Given the description of an element on the screen output the (x, y) to click on. 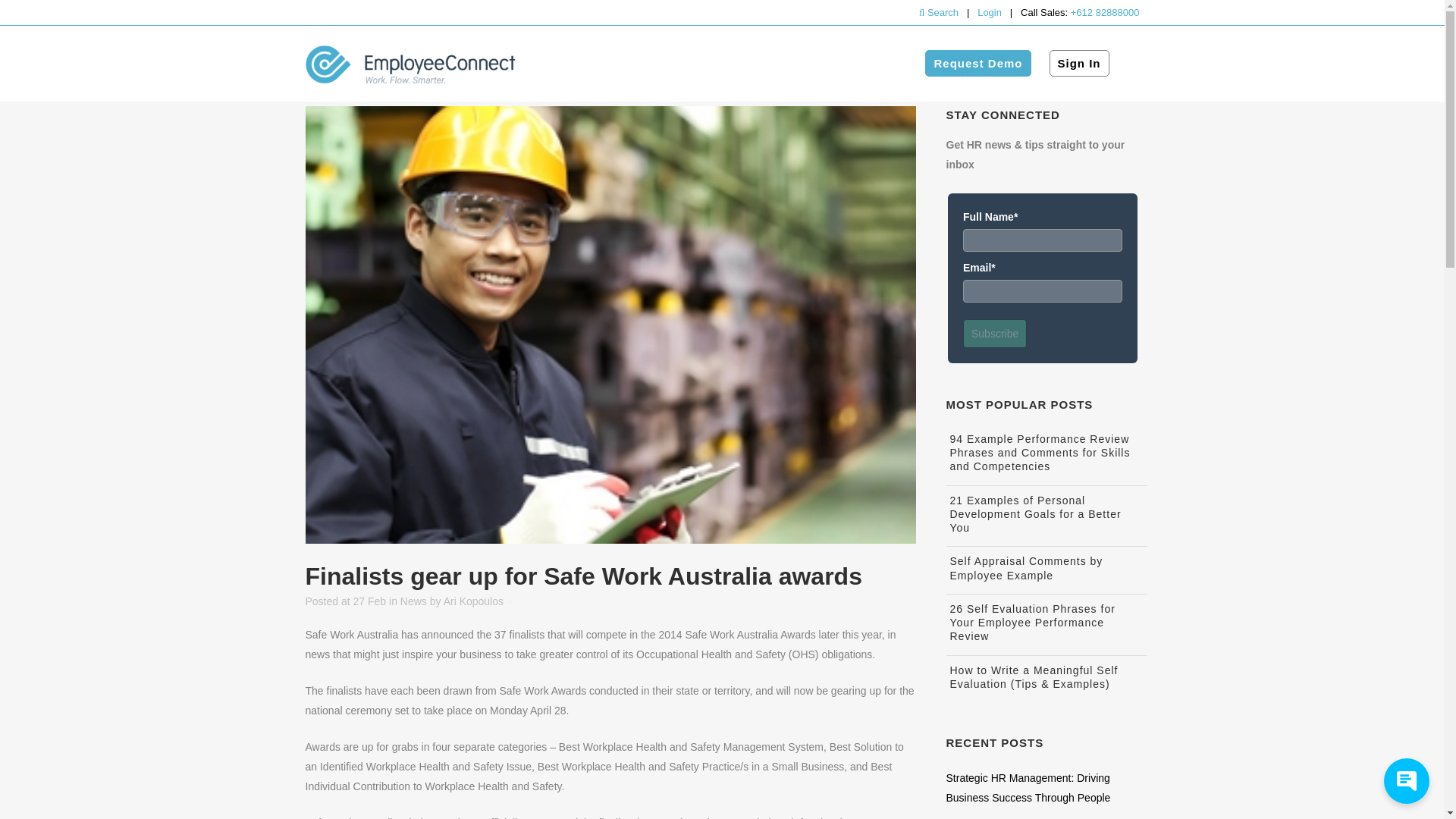
Self Appraisal Comments by Employee Example (1025, 567)
Login (988, 12)
Solutions (672, 63)
Search (939, 12)
21 Examples of Personal Development Goals for a Better You (1035, 514)
Modules (600, 63)
